Given the description of an element on the screen output the (x, y) to click on. 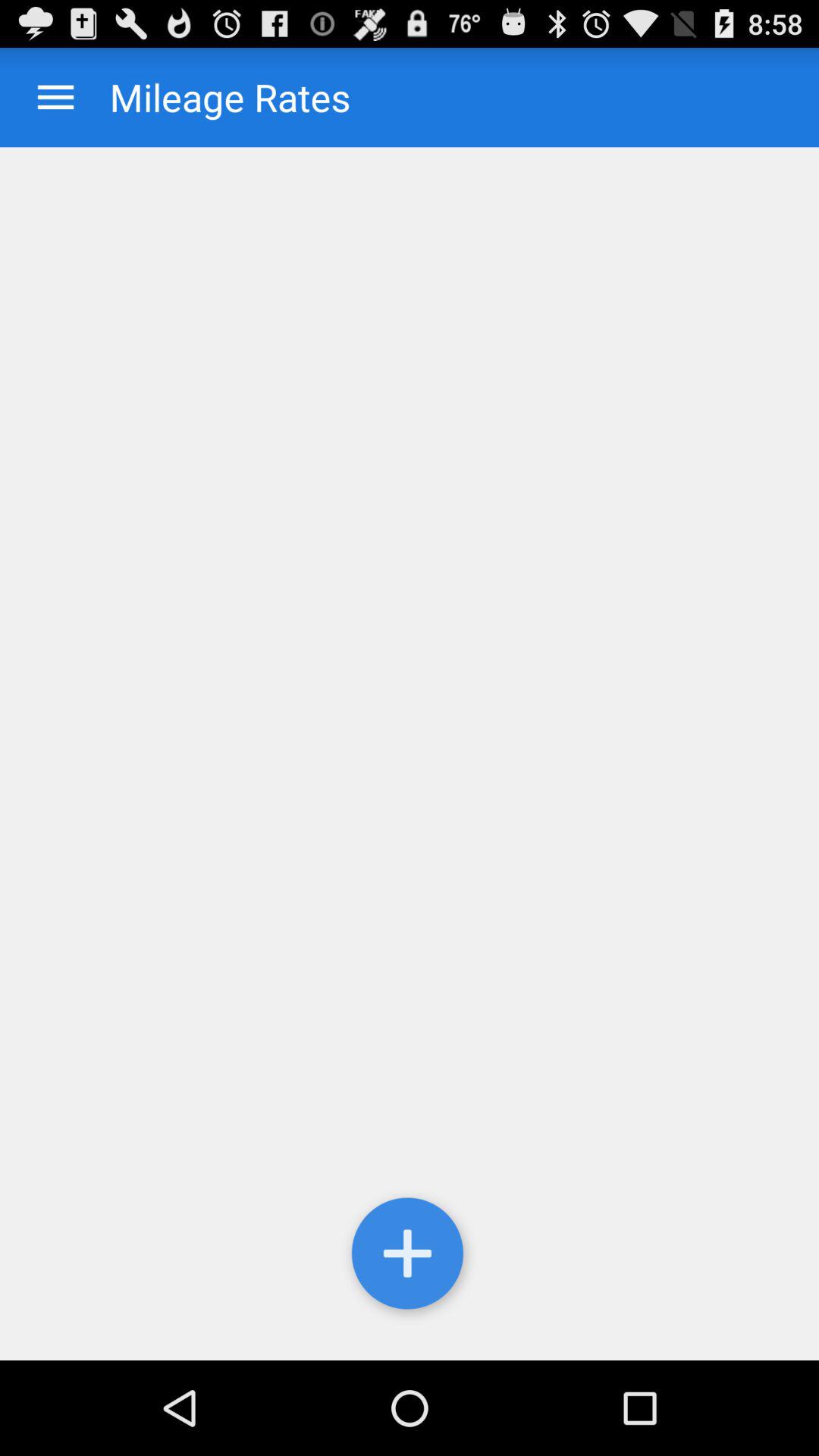
press item next to the mileage rates icon (55, 97)
